Given the description of an element on the screen output the (x, y) to click on. 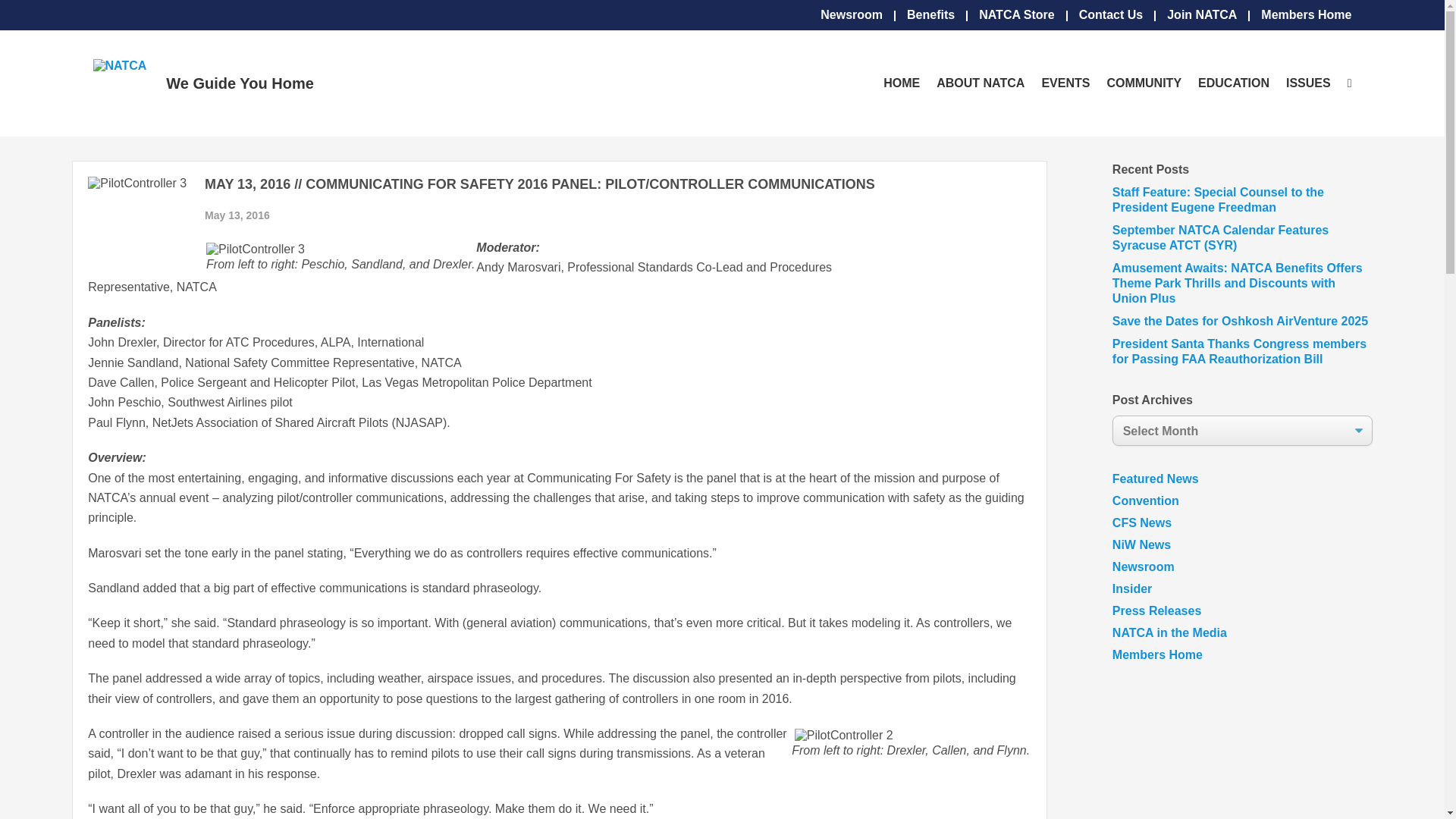
ABOUT NATCA (980, 83)
Newsroom (851, 15)
Join NATCA (1201, 15)
Contact Us (1110, 15)
Members Home (1305, 15)
Benefits (931, 15)
NATCA Store (1016, 15)
